Given the description of an element on the screen output the (x, y) to click on. 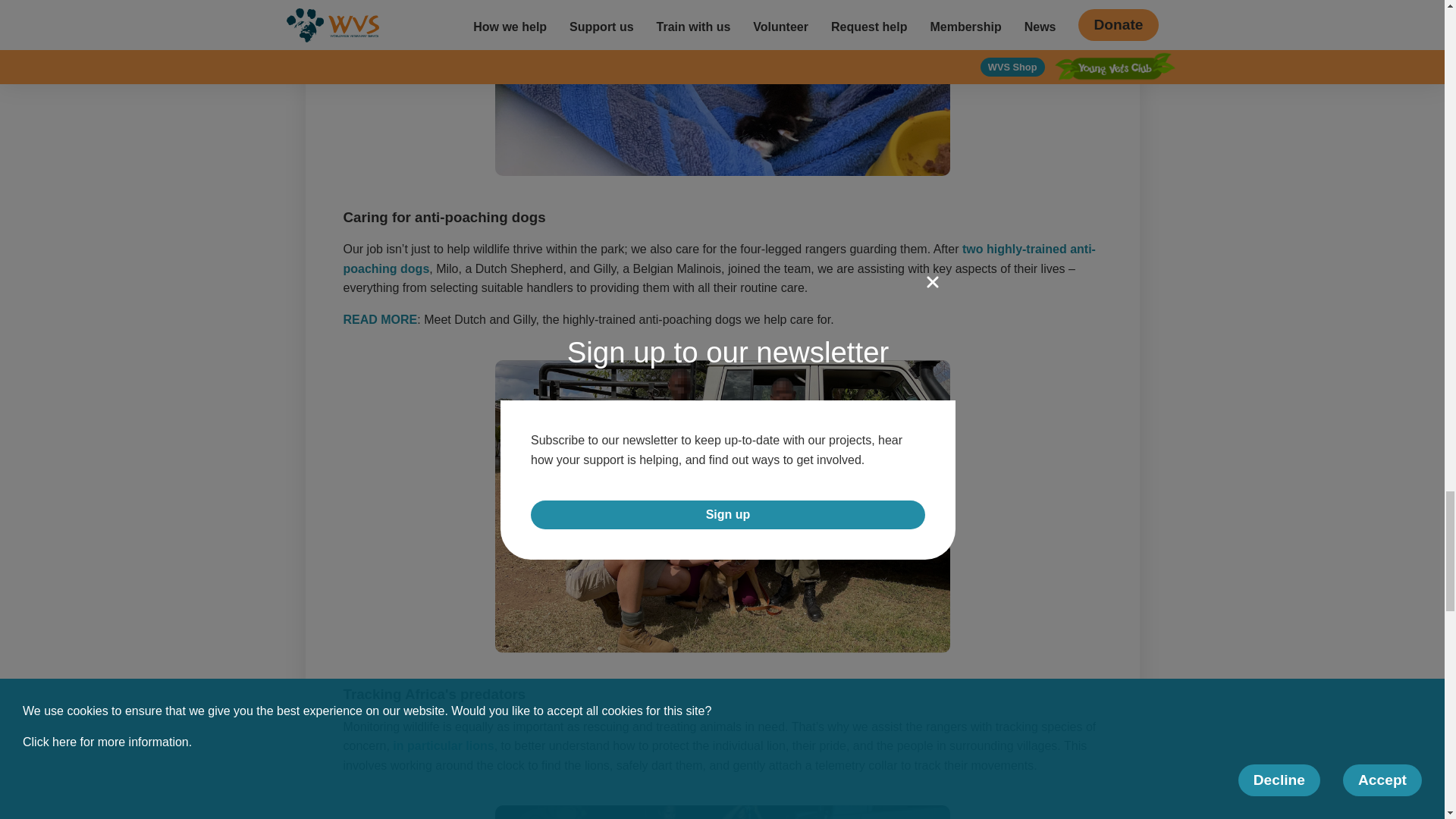
two highly-trained anti-poaching dogs (718, 258)
READ MORE (379, 318)
in particular lions (443, 745)
